Given the description of an element on the screen output the (x, y) to click on. 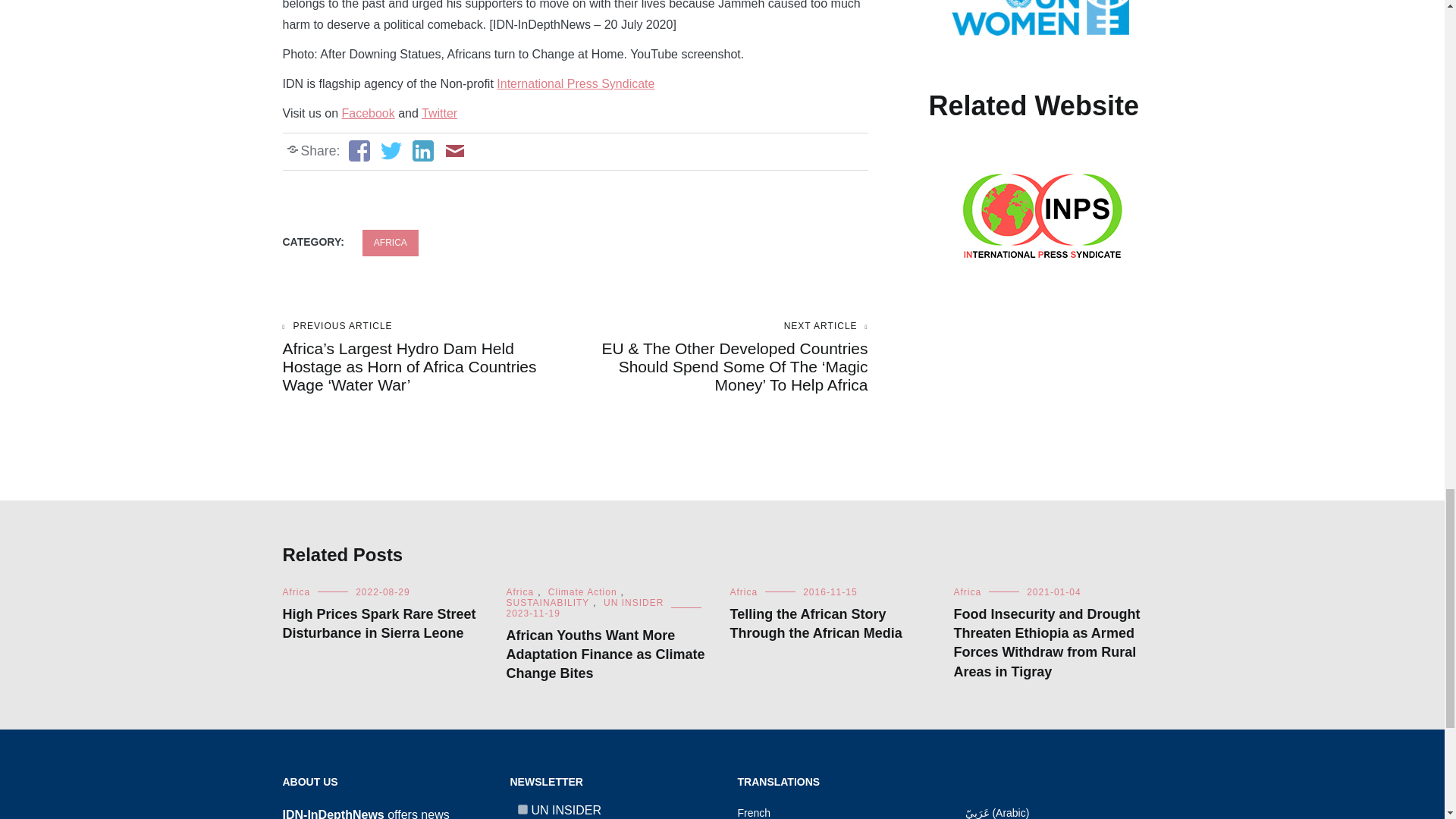
7 (521, 809)
